Given the description of an element on the screen output the (x, y) to click on. 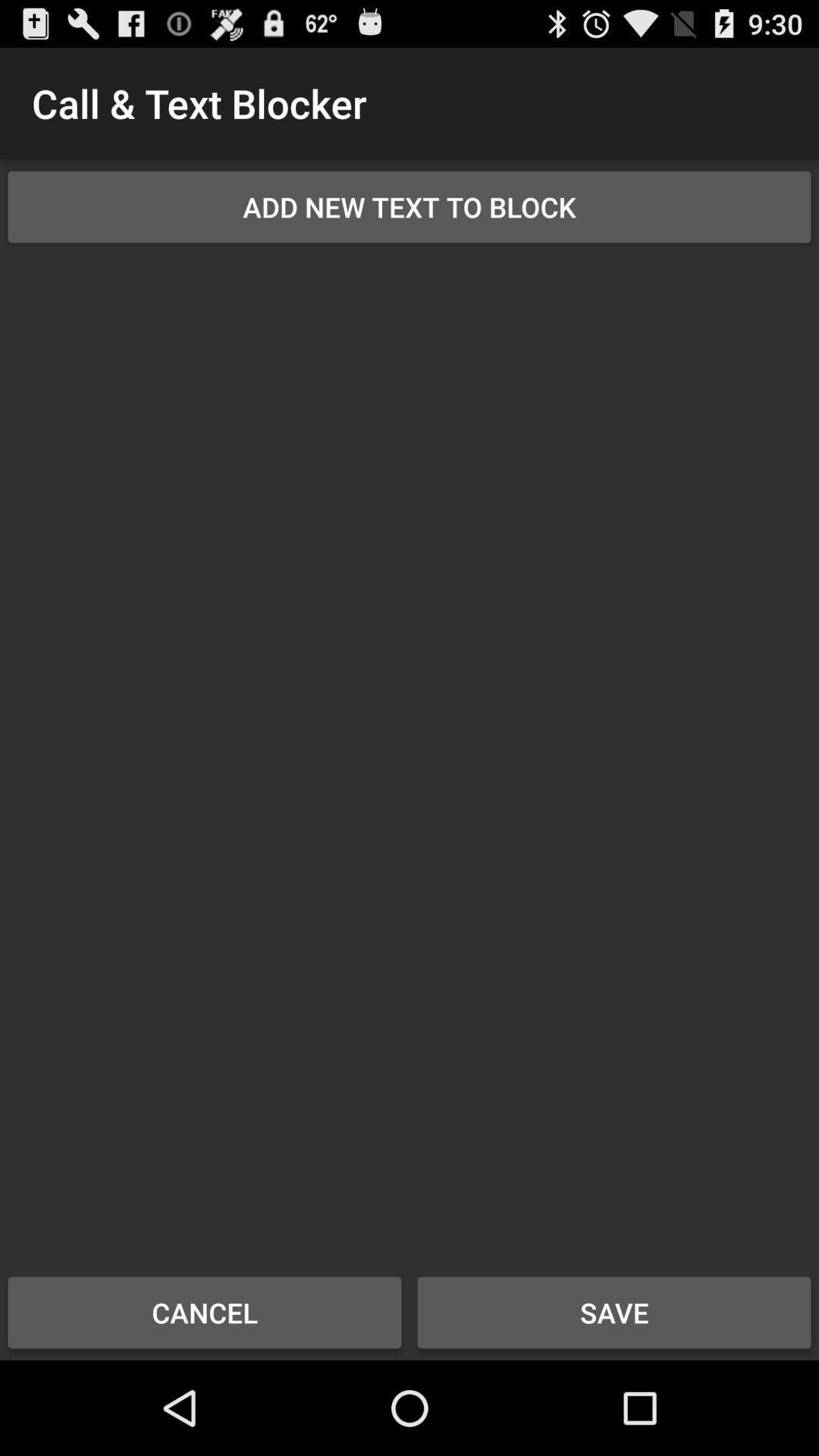
choose the item next to the save (204, 1312)
